Given the description of an element on the screen output the (x, y) to click on. 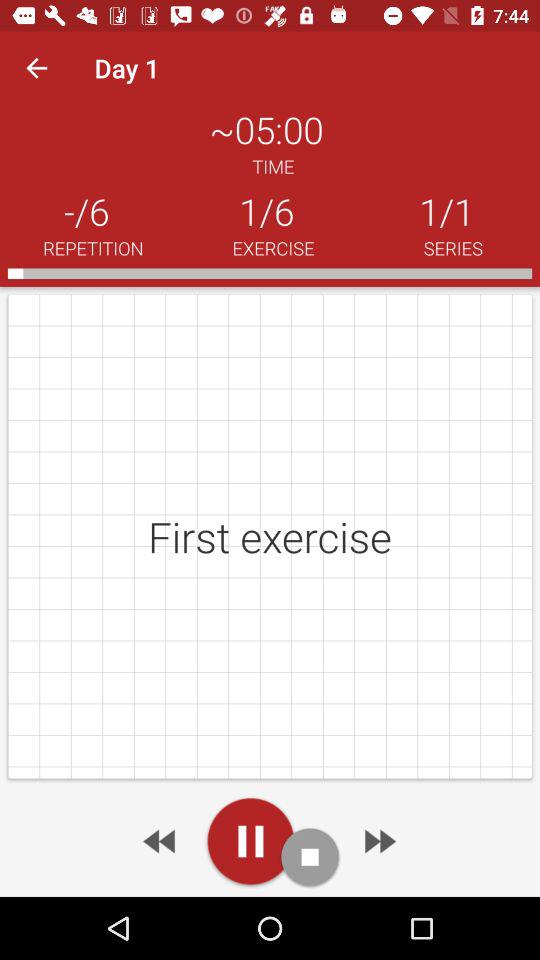
stop option (309, 856)
